Given the description of an element on the screen output the (x, y) to click on. 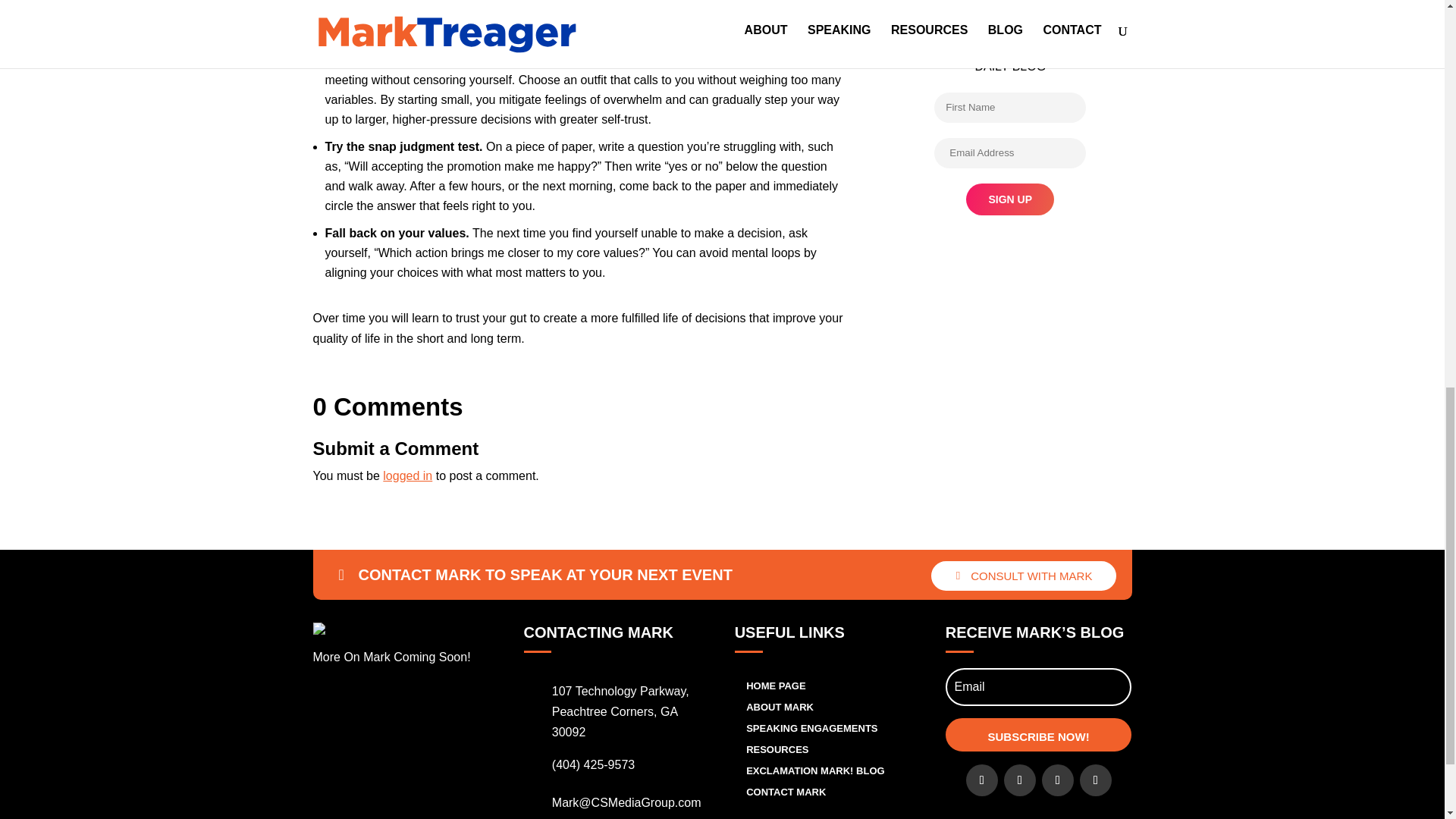
Follow on skype (1058, 780)
Follow on X (1019, 780)
Follow on Facebook (981, 780)
logged in (407, 475)
CONSULT WITH MARK (1023, 575)
SUBSCRIBE NOW! (1038, 734)
Mark-Treager-brand-logo-name (354, 628)
CONTACT MARK TO SPEAK AT YOUR NEXT EVENT (534, 574)
Sign Up (1010, 199)
Follow on Instagram (1096, 780)
